Given the description of an element on the screen output the (x, y) to click on. 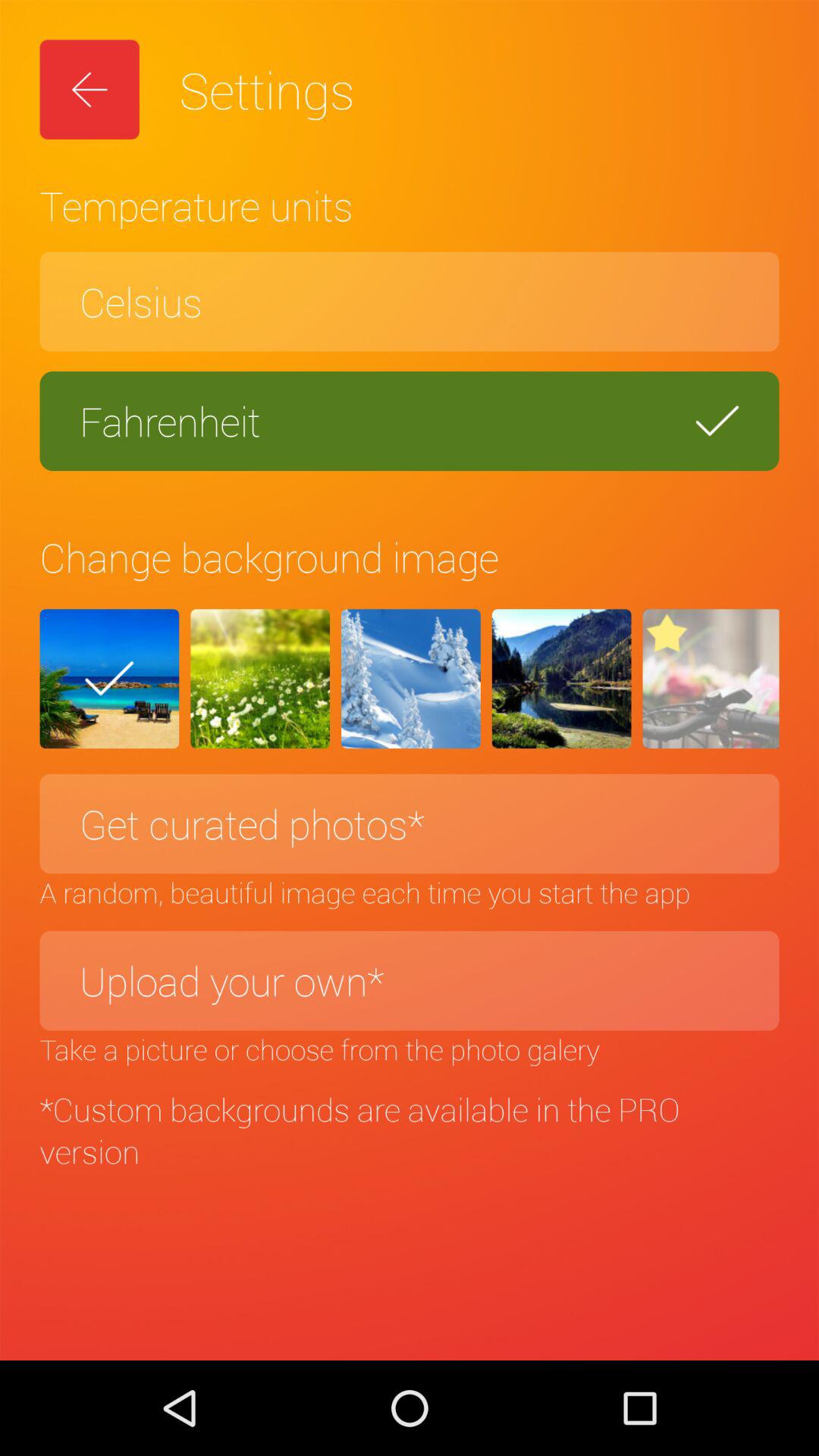
launch the icon below celsius icon (409, 420)
